Given the description of an element on the screen output the (x, y) to click on. 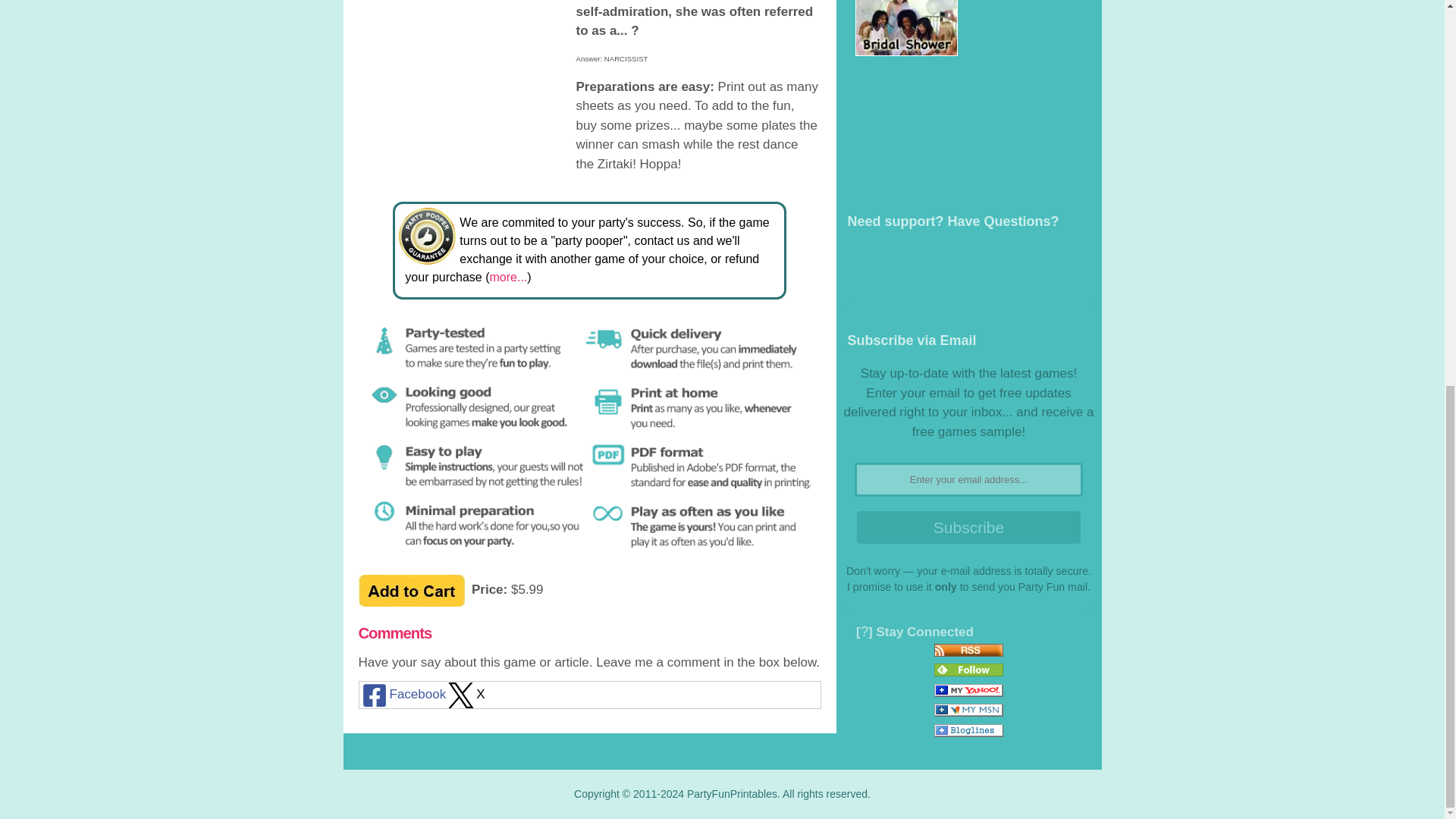
X (464, 694)
Facebook (402, 694)
Go to Printable Bridal Shower Games (907, 51)
more... (508, 277)
Subscribe (968, 527)
